Given the description of an element on the screen output the (x, y) to click on. 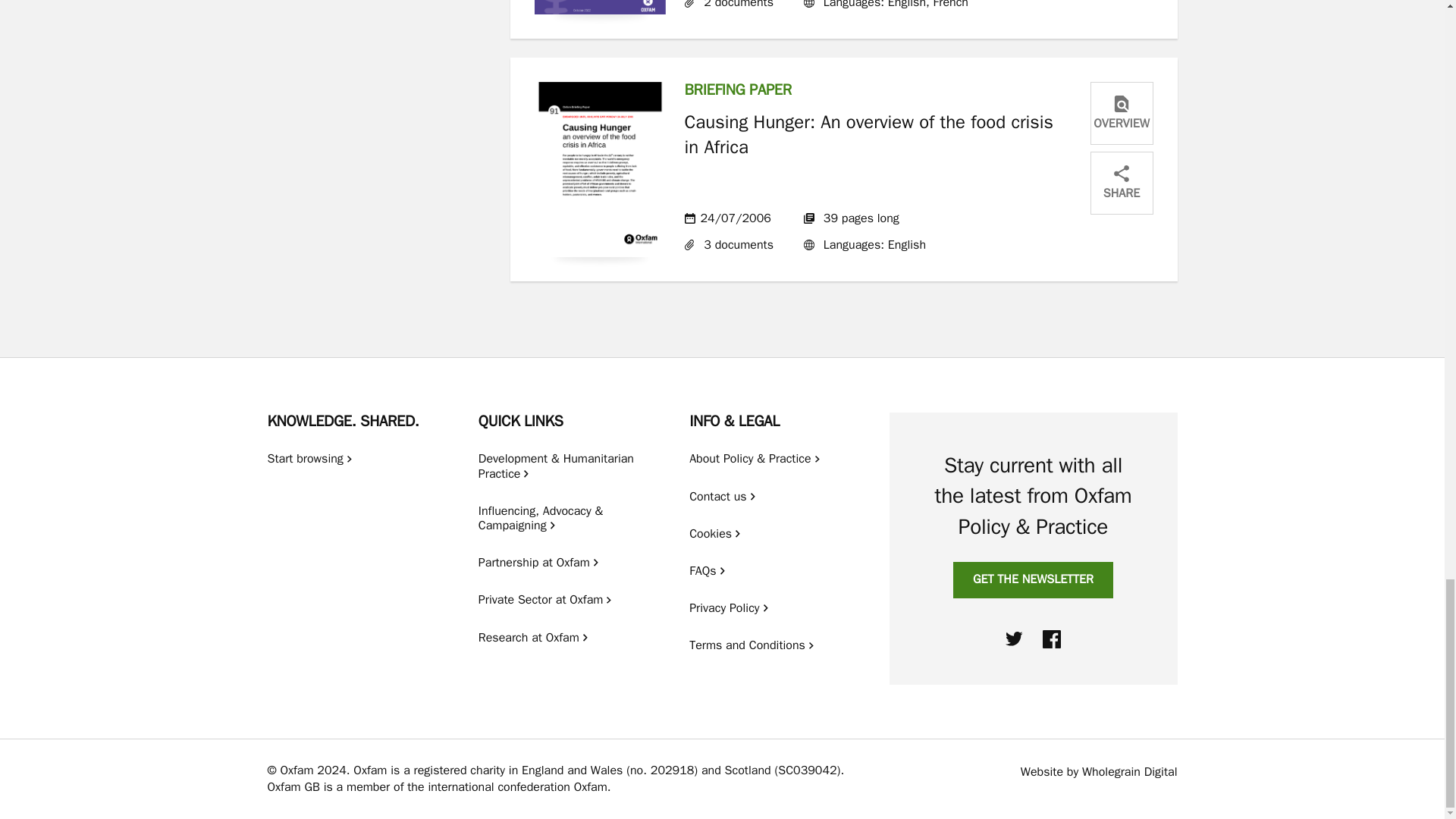
Get the newsletter (1032, 579)
